Given the description of an element on the screen output the (x, y) to click on. 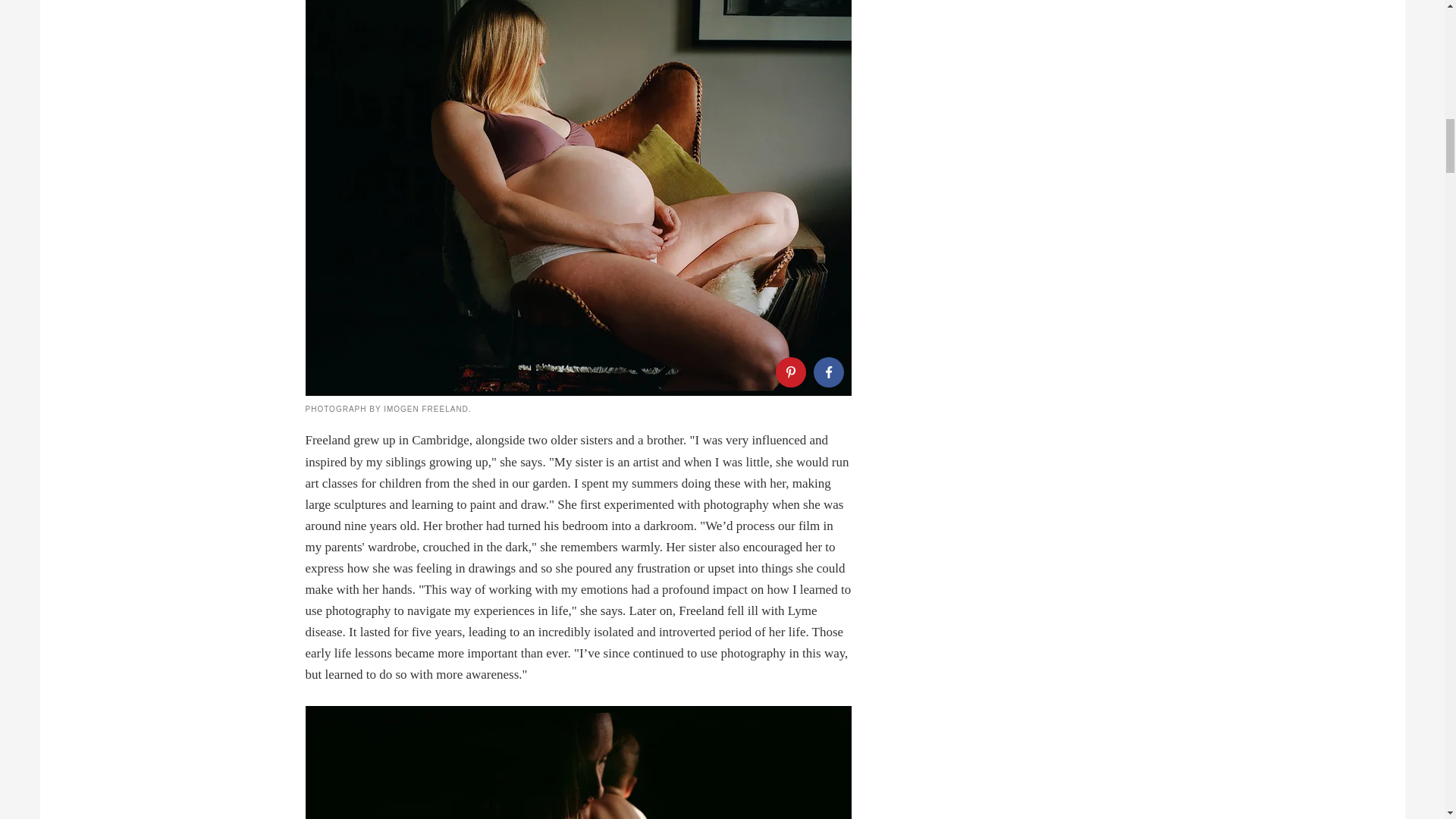
Share on Facebook (827, 372)
Share on Pinterest (789, 372)
